Given the description of an element on the screen output the (x, y) to click on. 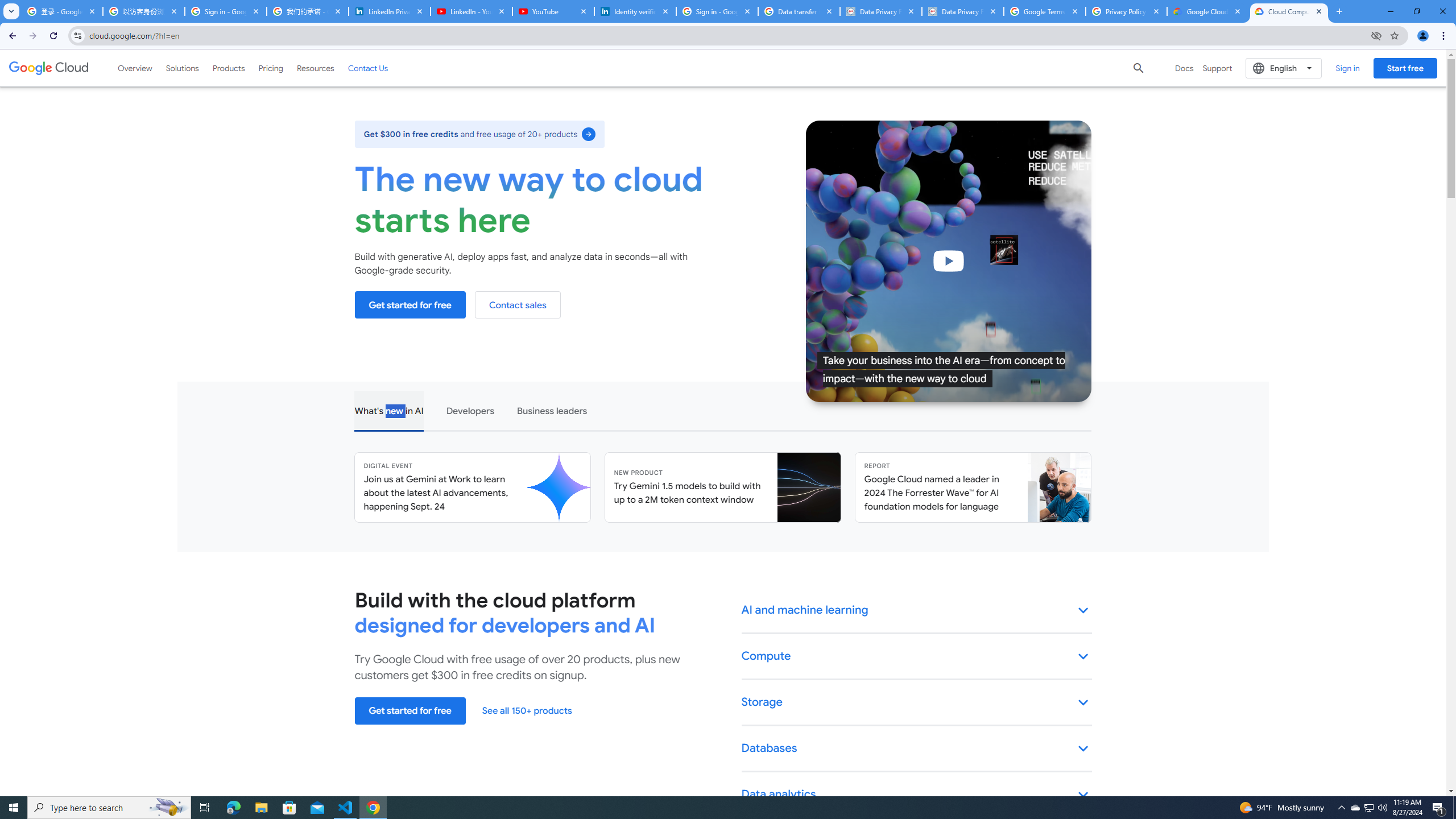
Data analytics keyboard_arrow_down (916, 794)
Get started for free (409, 710)
Business leaders (552, 409)
Pricing (270, 67)
What's new in AI (388, 409)
Compute keyboard_arrow_down (916, 656)
LinkedIn Privacy Policy (389, 11)
Start free (1405, 67)
LinkedIn - YouTube (470, 11)
Developers (469, 409)
Solutions (181, 67)
